Given the description of an element on the screen output the (x, y) to click on. 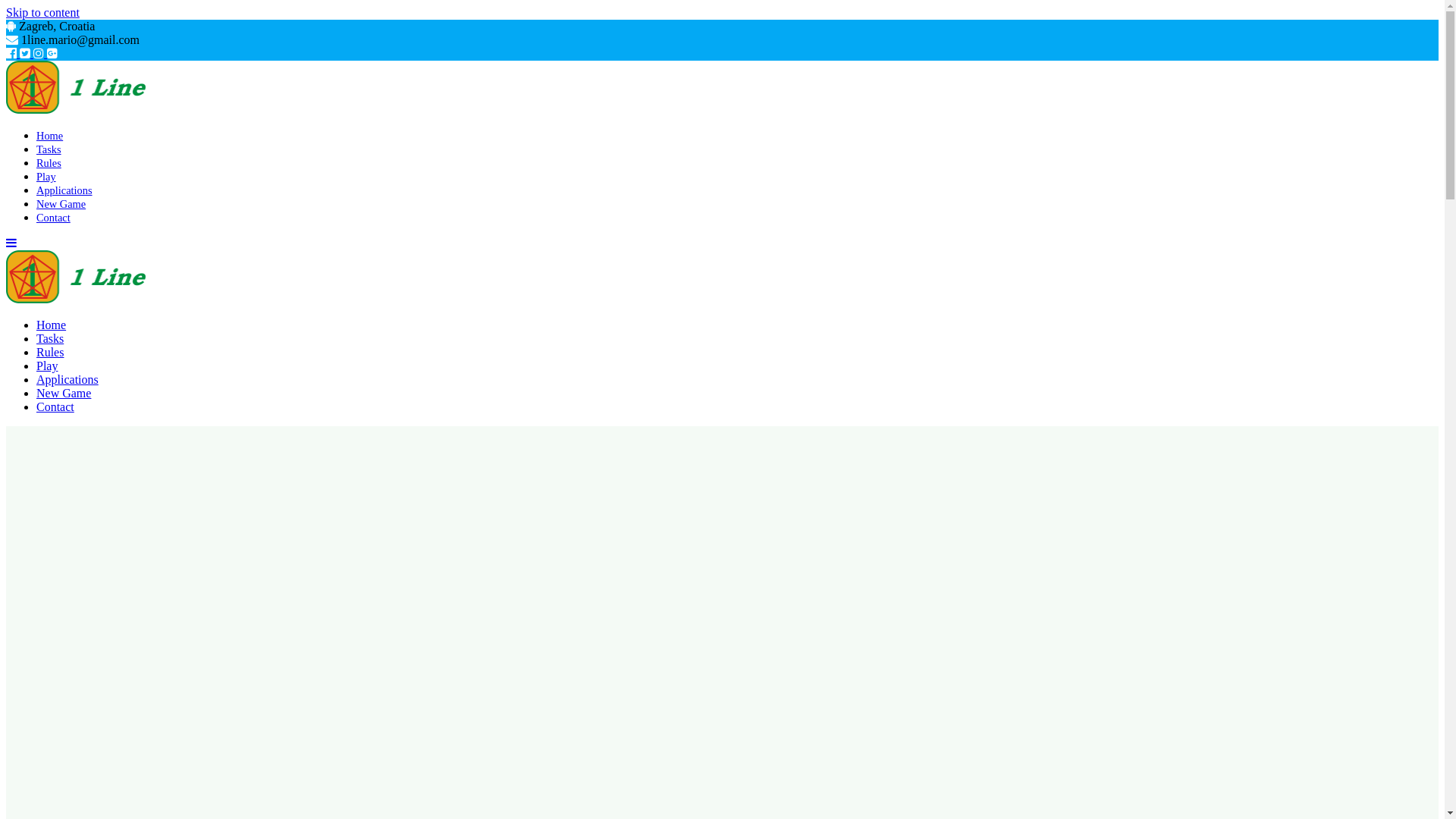
Contact Element type: text (55, 406)
Applications Element type: text (67, 379)
Play Element type: text (46, 365)
Tasks Element type: text (48, 149)
New Game Element type: text (60, 203)
Home Element type: text (49, 135)
Play Element type: text (46, 176)
Rules Element type: text (48, 162)
Home Element type: text (50, 324)
Contact Element type: text (53, 217)
Rules Element type: text (49, 351)
New Game Element type: text (63, 392)
Tasks Element type: text (49, 338)
Skip to content Element type: text (42, 12)
Applications Element type: text (64, 190)
